Given the description of an element on the screen output the (x, y) to click on. 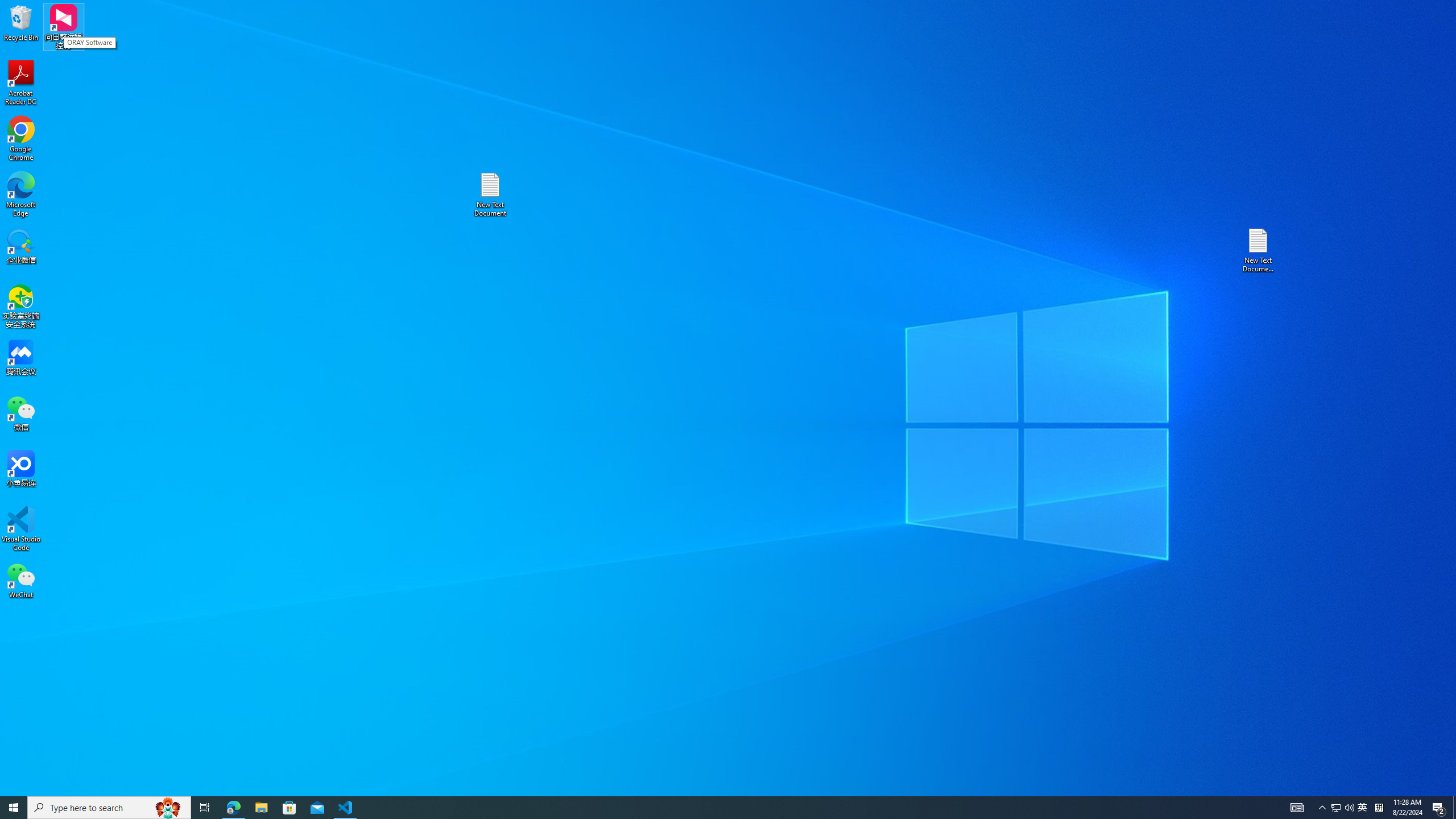
Recycle Bin (21, 22)
Tray Input Indicator - Chinese (Simplified, China) (1378, 807)
User Promoted Notification Area (1342, 807)
New Text Document (489, 194)
WeChat (21, 580)
Google Chrome (21, 138)
Action Center, 2 new notifications (1439, 807)
Show desktop (1454, 807)
Task View (204, 807)
Visual Studio Code - 1 running window (345, 807)
New Text Document (2) (1258, 250)
Visual Studio Code (21, 528)
